Given the description of an element on the screen output the (x, y) to click on. 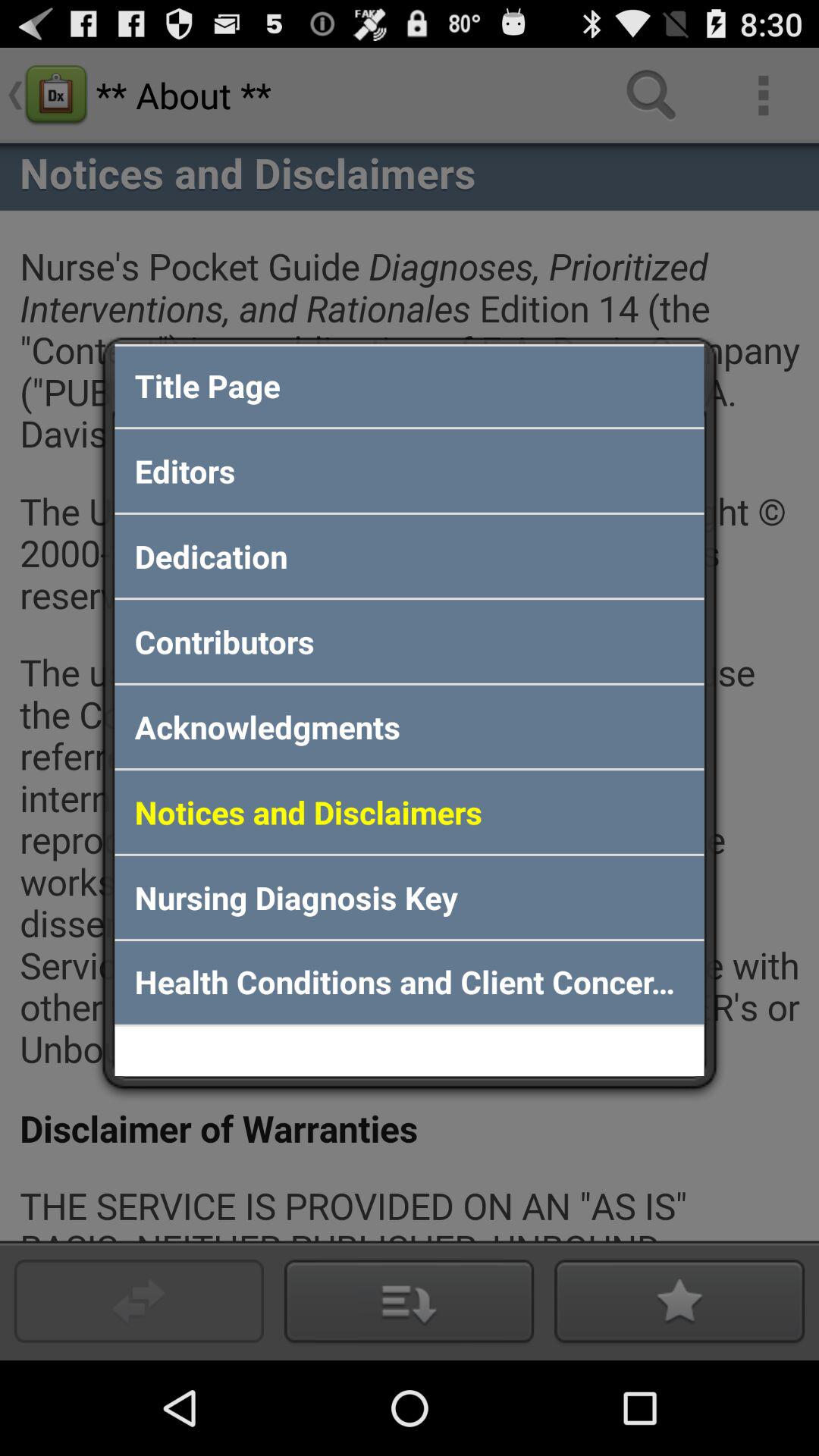
open app below acknowledgments (409, 811)
